Given the description of an element on the screen output the (x, y) to click on. 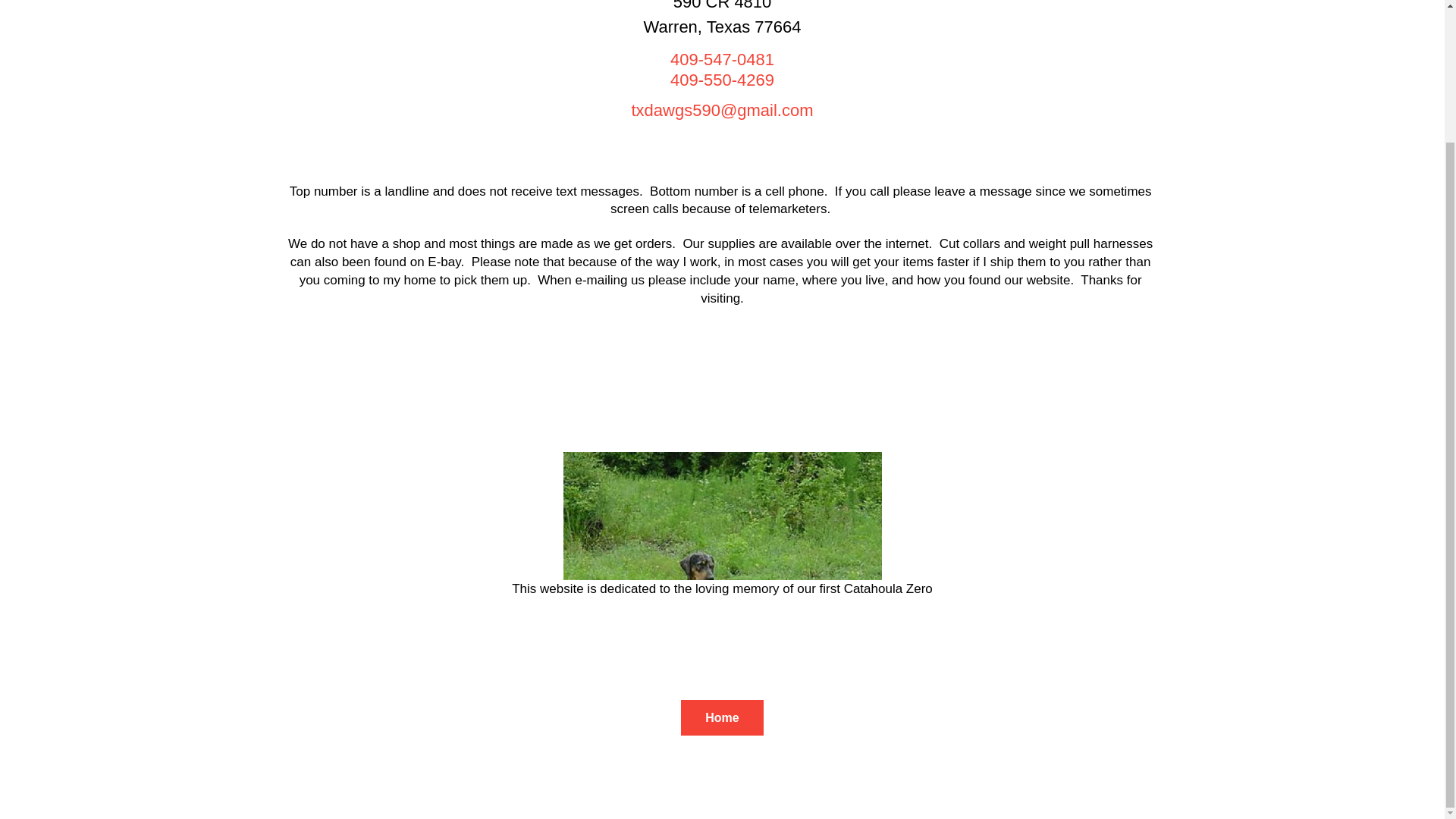
Home (721, 68)
